Given the description of an element on the screen output the (x, y) to click on. 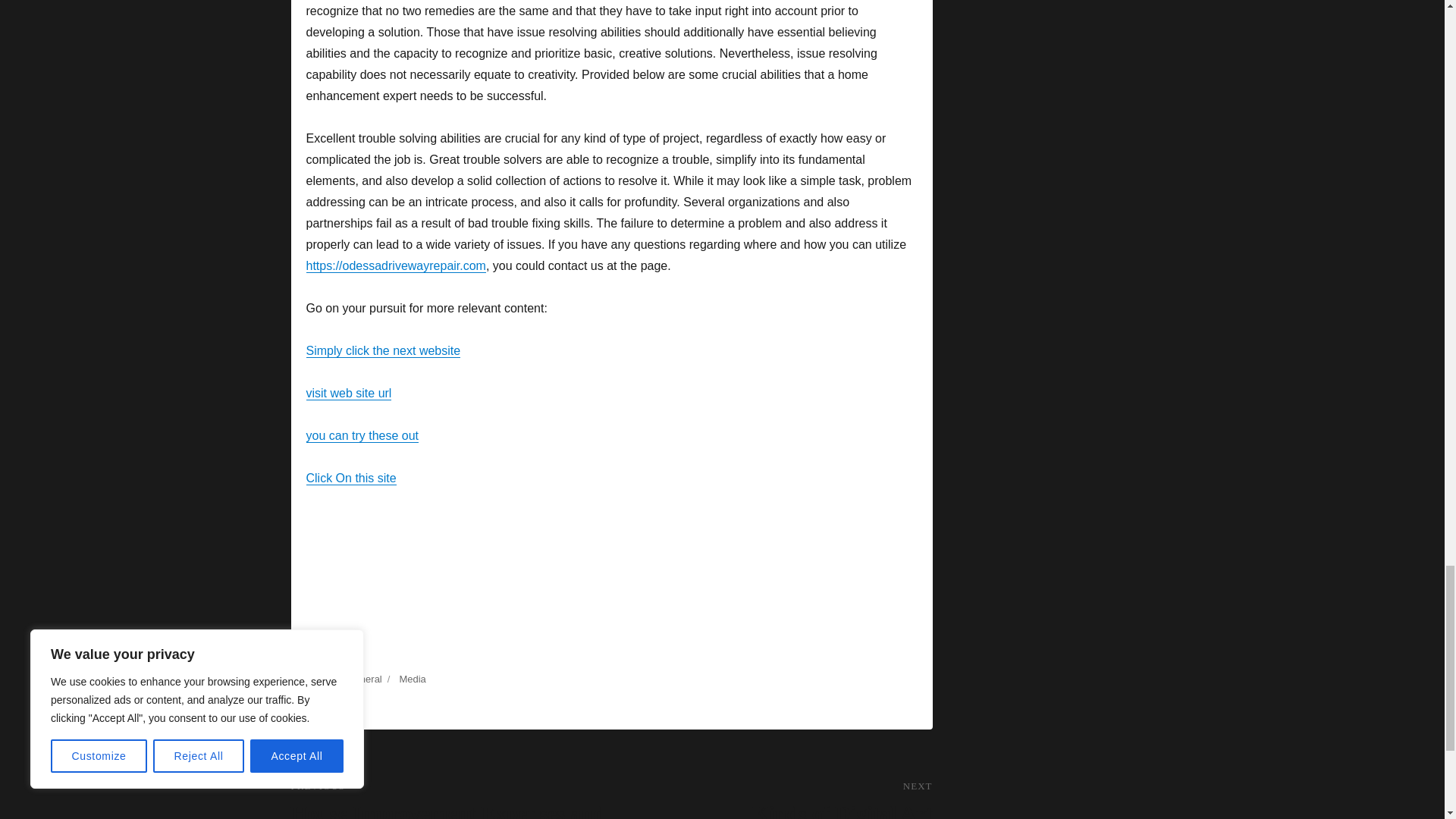
Click On this site (350, 477)
visit web site url (348, 392)
Simply click the next website (771, 788)
Media (383, 350)
you can try these out (411, 678)
General (362, 435)
